Given the description of an element on the screen output the (x, y) to click on. 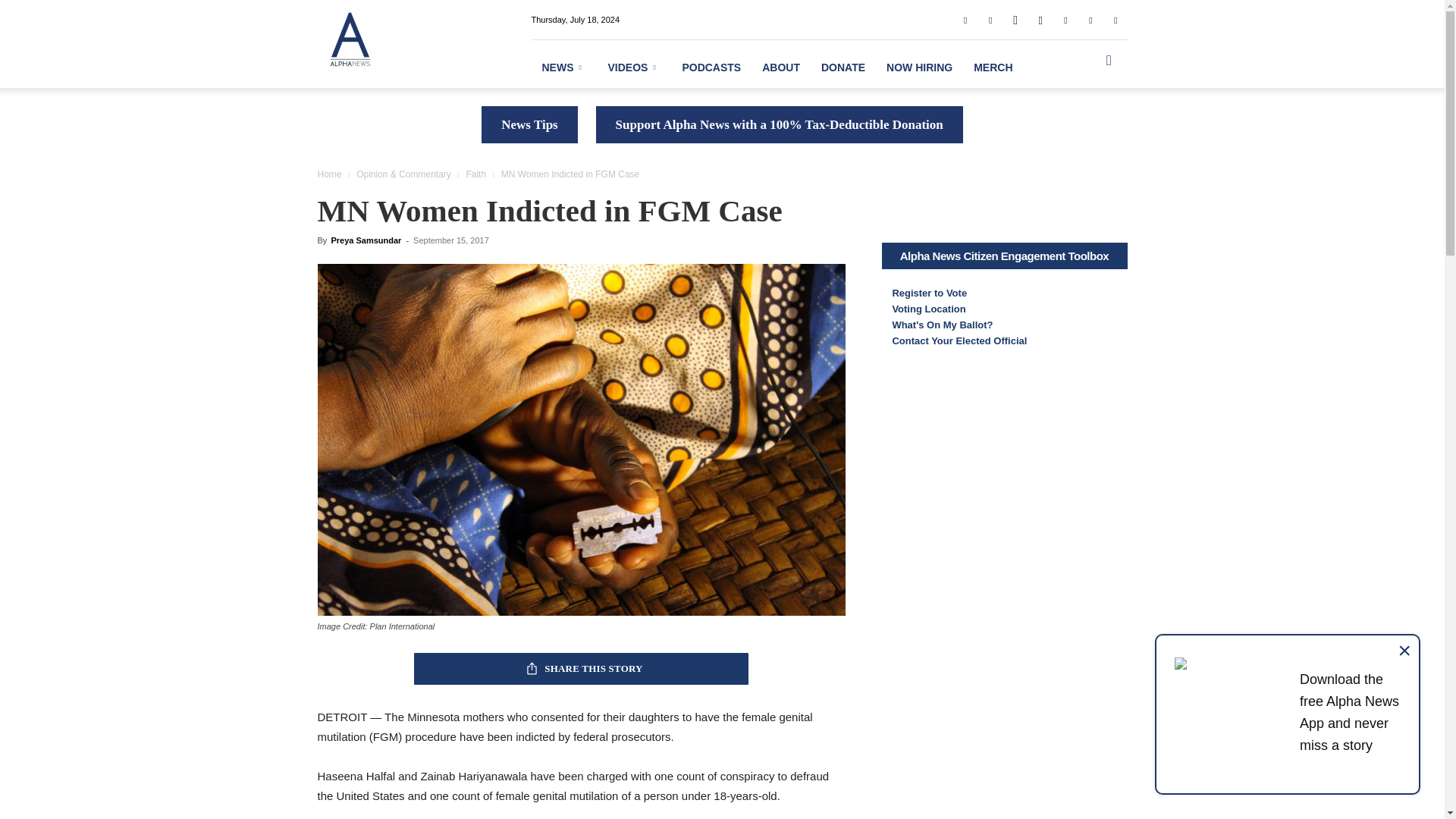
NEWS (563, 67)
Alpha News (349, 39)
Telegram (1065, 19)
Instagram (1040, 19)
Youtube (1114, 19)
GETTR (1015, 19)
Twitter (1090, 19)
Gab (989, 19)
